Given the description of an element on the screen output the (x, y) to click on. 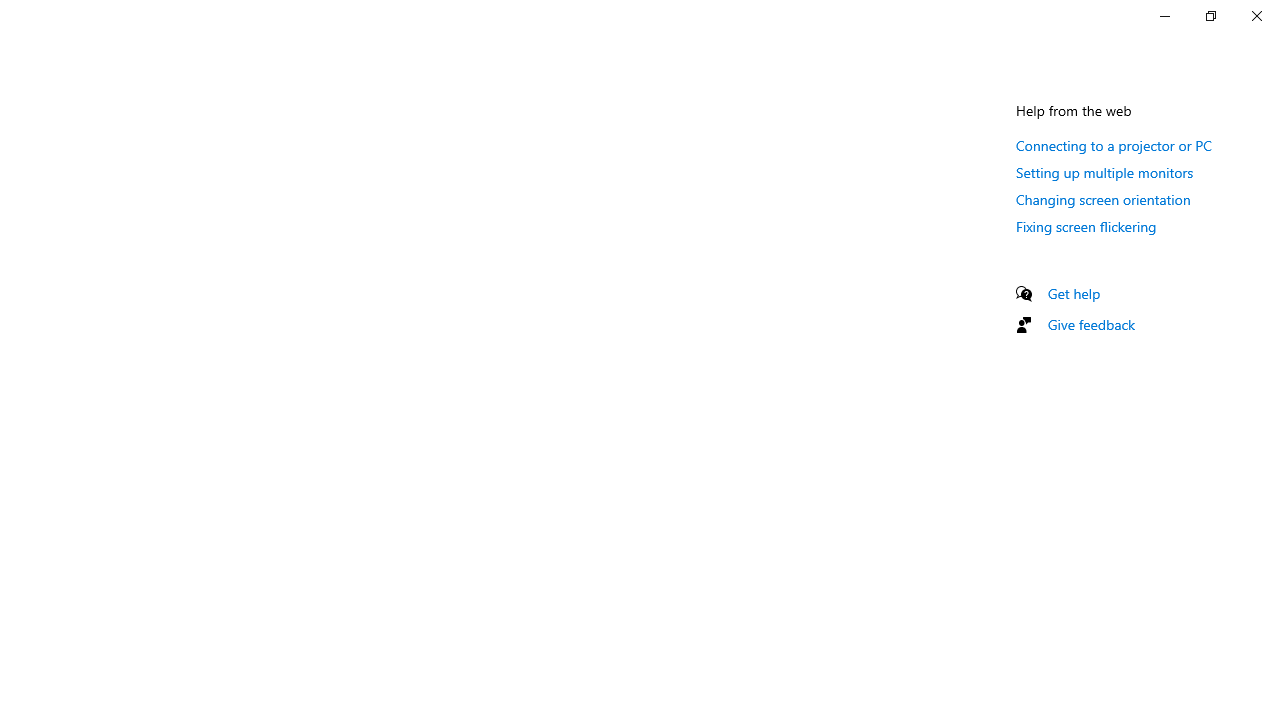
Connecting to a projector or PC (1114, 145)
Changing screen orientation (1103, 199)
Restore Settings (1210, 15)
Minimize Settings (1164, 15)
Give feedback (1091, 324)
Fixing screen flickering (1086, 226)
Setting up multiple monitors (1105, 172)
Get help (1074, 293)
Close Settings (1256, 15)
